Given the description of an element on the screen output the (x, y) to click on. 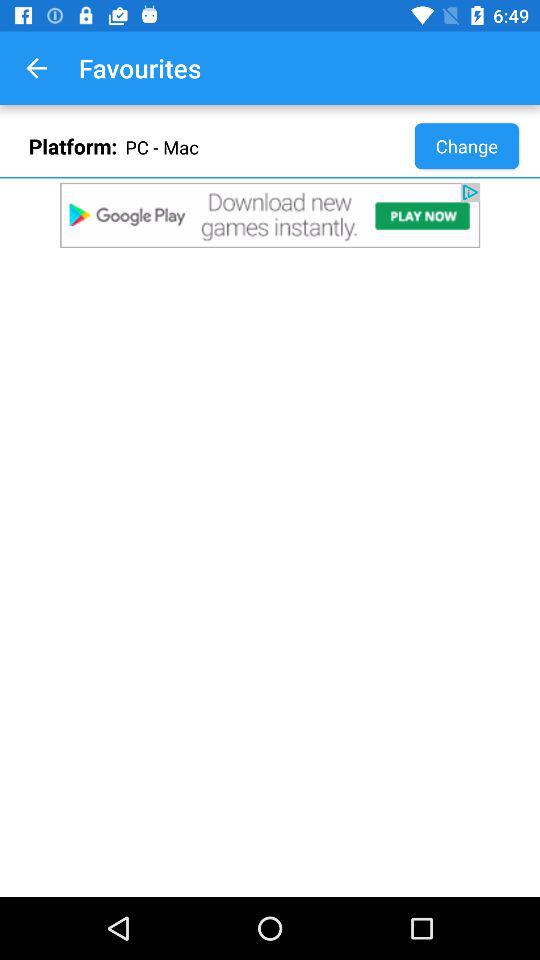
click on advertisements (270, 215)
